Given the description of an element on the screen output the (x, y) to click on. 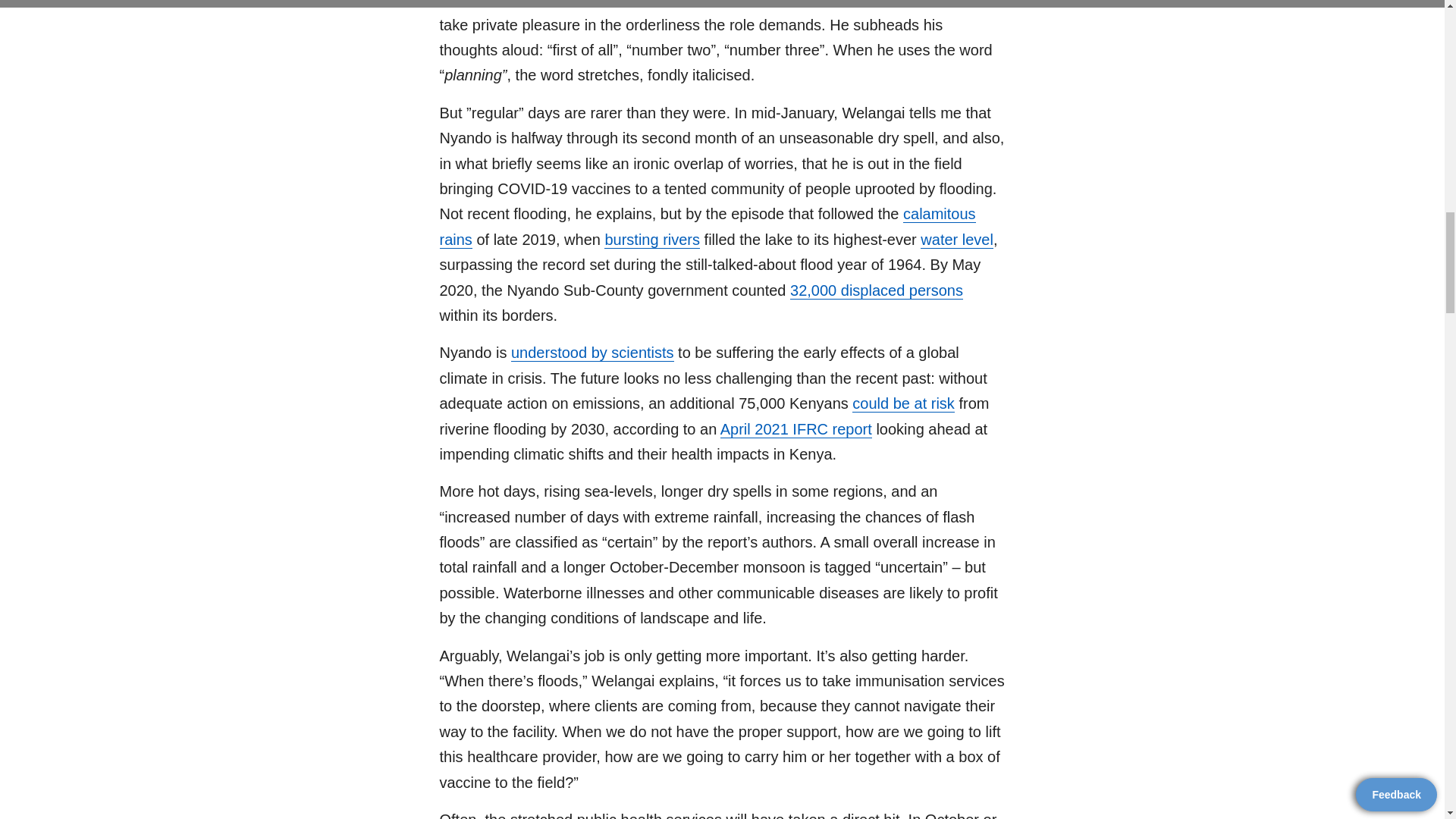
32,000 displaced persons (876, 290)
could be at risk (903, 403)
calamitous rains (707, 226)
bursting rivers (652, 239)
understood by scientists (592, 352)
water level (956, 239)
